Given the description of an element on the screen output the (x, y) to click on. 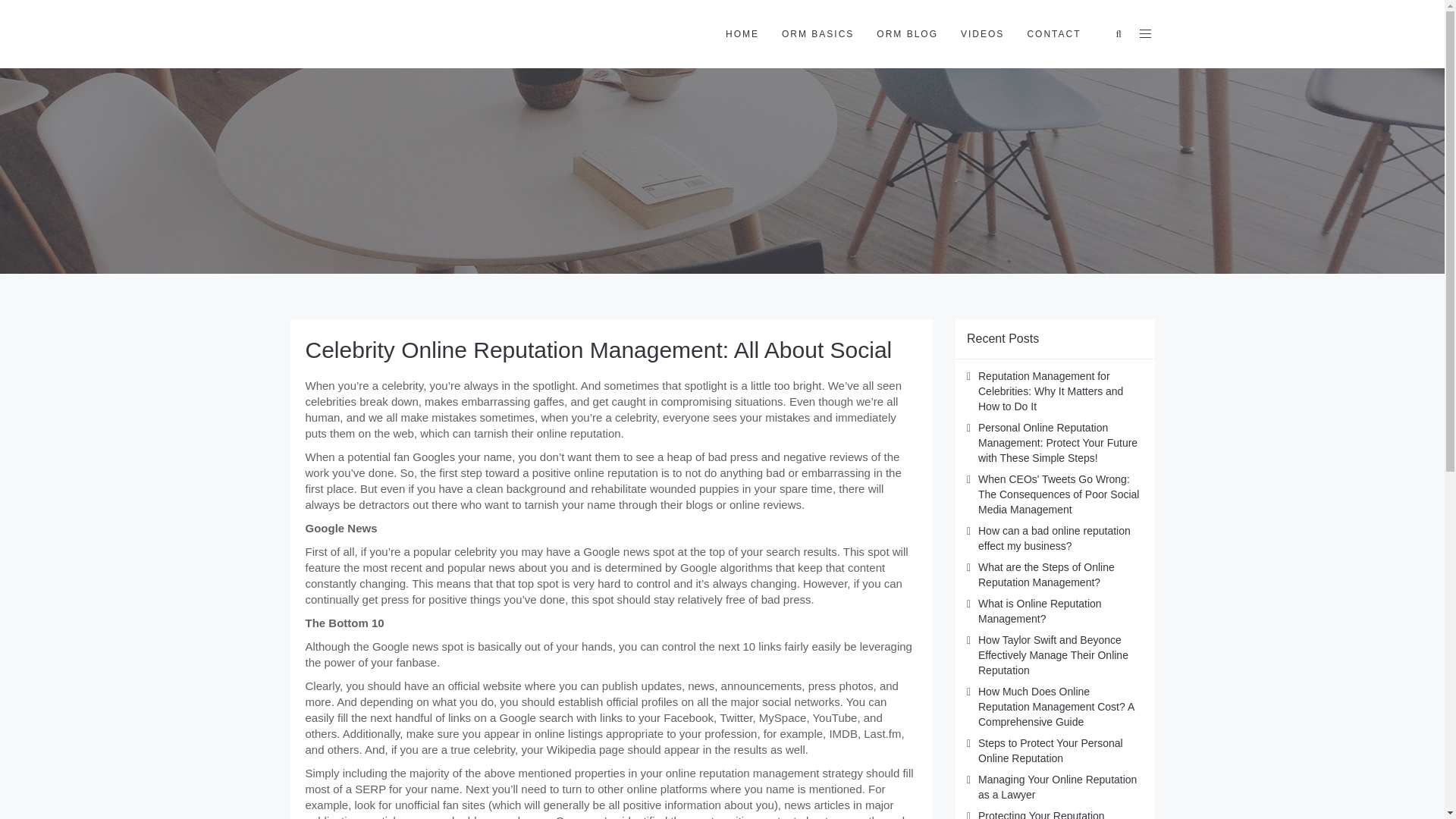
Celebrity Online Reputation Management: All About Social (597, 349)
Steps to Protect Your Personal Online Reputation (1050, 750)
What is Online Reputation Management? (1040, 610)
CONTACT (1053, 33)
ORM BASICS (817, 33)
ORM BLOG (906, 33)
VIDEOS (981, 33)
What are the Steps of Online Reputation Management? (1046, 574)
How can a bad online reputation effect my business? (1054, 538)
Managing Your Online Reputation as a Lawyer (1057, 786)
Protecting Your Reputation Online: Strategies for Doctors (1048, 814)
